Given the description of an element on the screen output the (x, y) to click on. 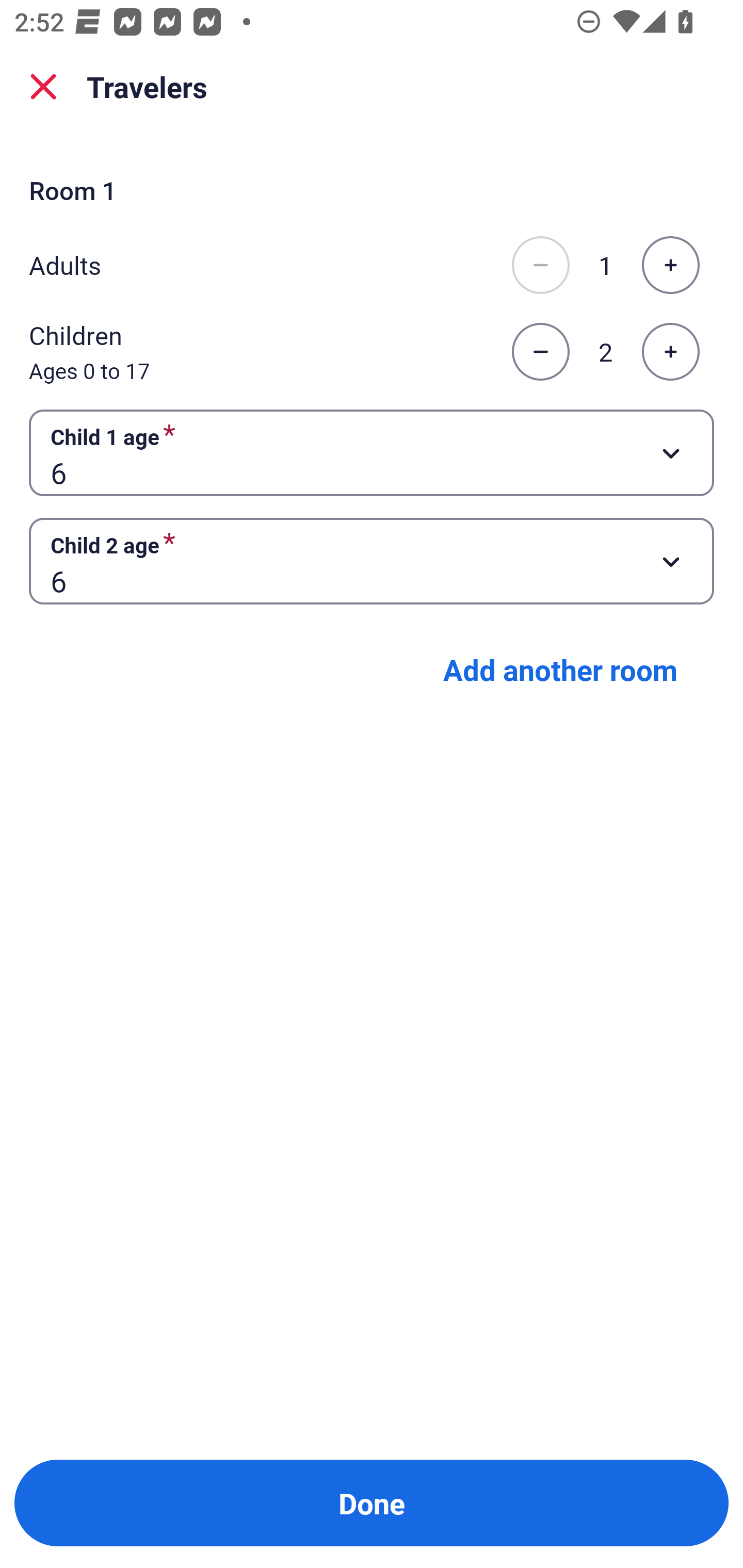
close (43, 86)
Decrease the number of adults (540, 264)
Increase the number of adults (670, 264)
Decrease the number of children (540, 351)
Increase the number of children (670, 351)
Child 1 age required Button 6 (371, 452)
Child 2 age required Button 6 (371, 561)
Add another room (560, 669)
Done (371, 1502)
